Given the description of an element on the screen output the (x, y) to click on. 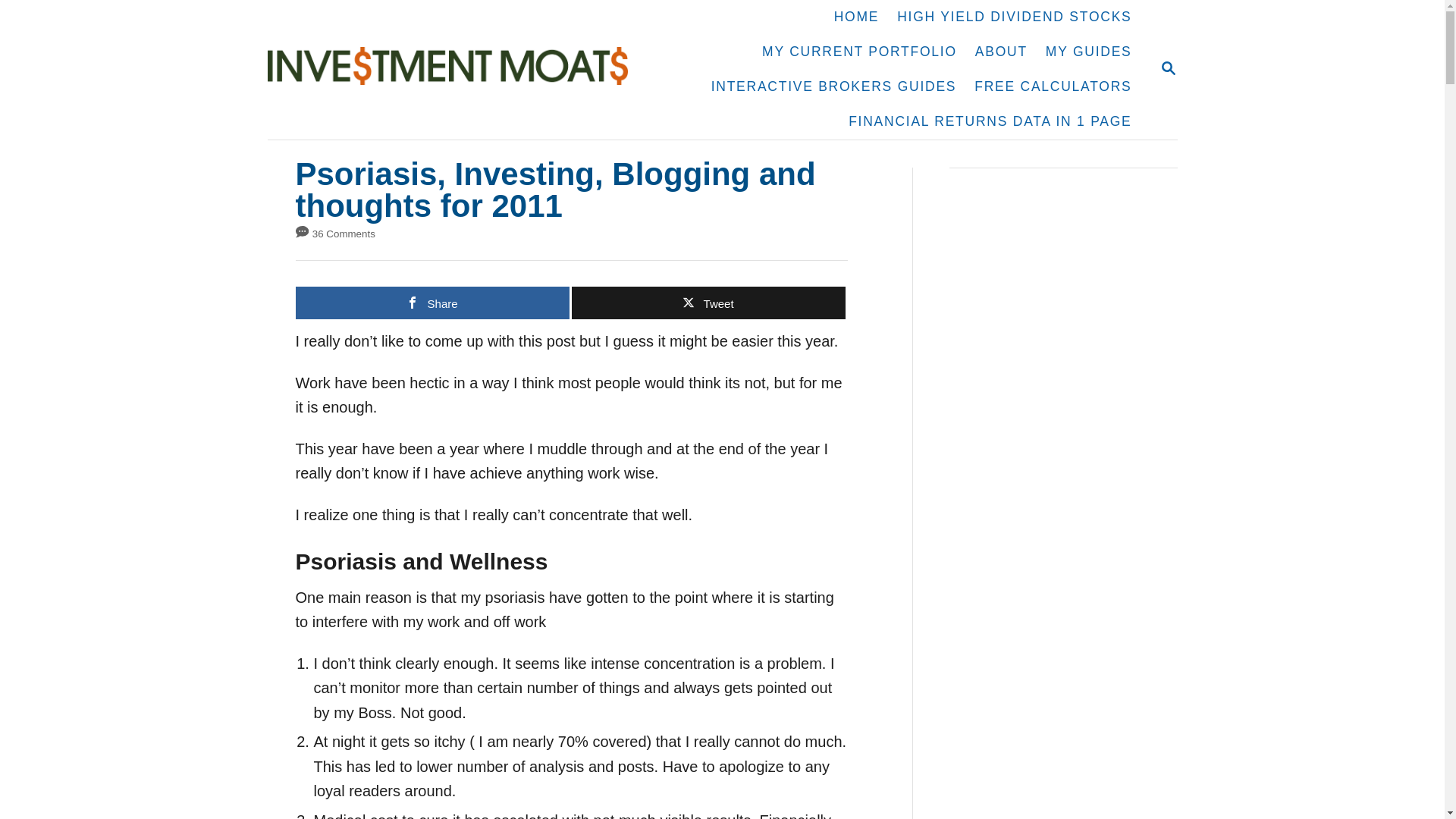
Share (432, 302)
HIGH YIELD DIVIDEND STOCKS (1014, 17)
HOME (856, 17)
MY GUIDES (1088, 52)
Tweet (708, 302)
INTERACTIVE BROKERS GUIDES (833, 86)
ABOUT (1001, 52)
Investment Moats (455, 69)
MY CURRENT PORTFOLIO (859, 52)
MAGNIFYING GLASS (1167, 67)
